Given the description of an element on the screen output the (x, y) to click on. 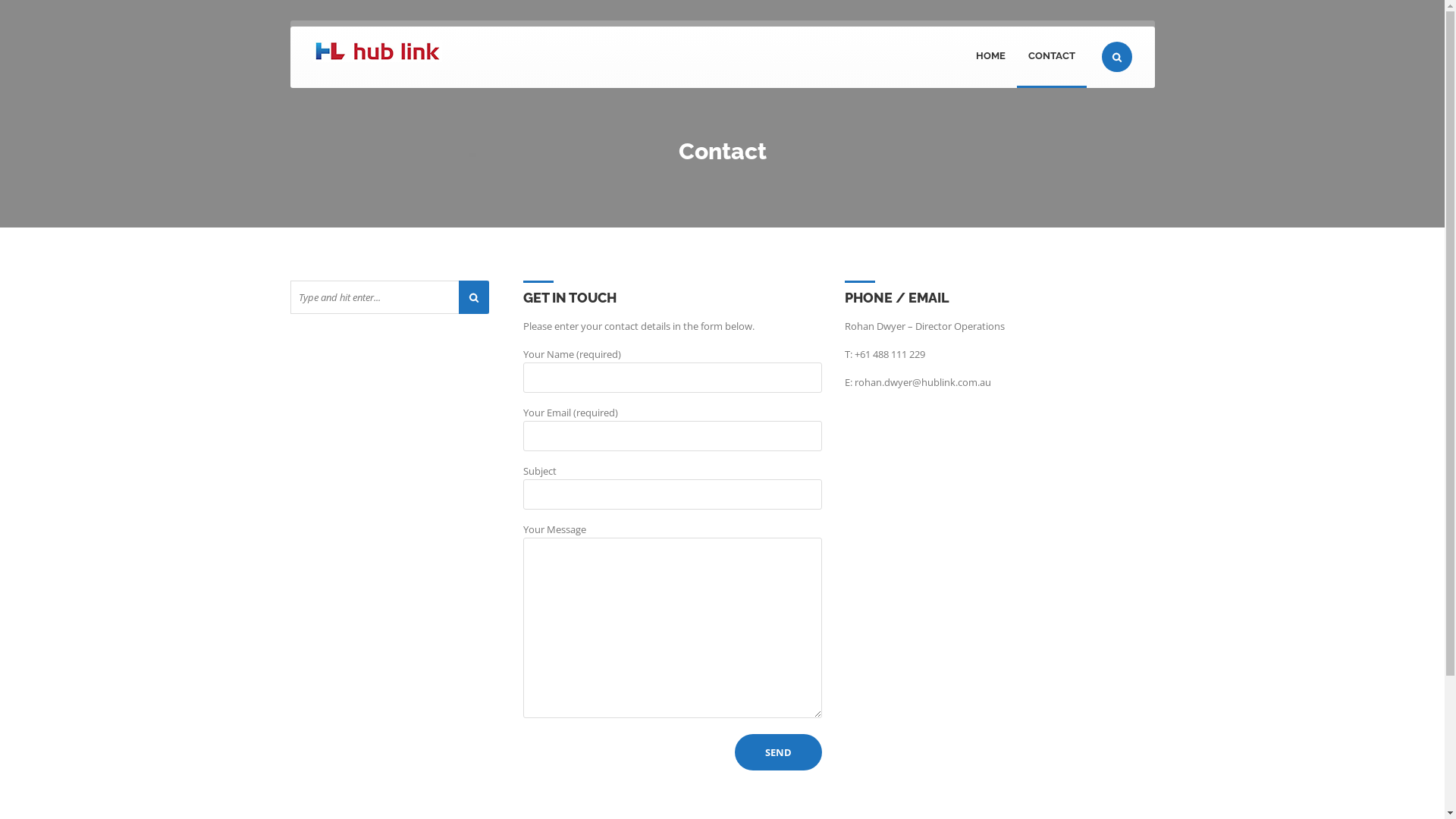
rohan.dwyer@hublink.com.au Element type: text (922, 382)
Send Element type: text (778, 752)
CONTACT Element type: text (1050, 56)
HOME Element type: text (990, 56)
